Given the description of an element on the screen output the (x, y) to click on. 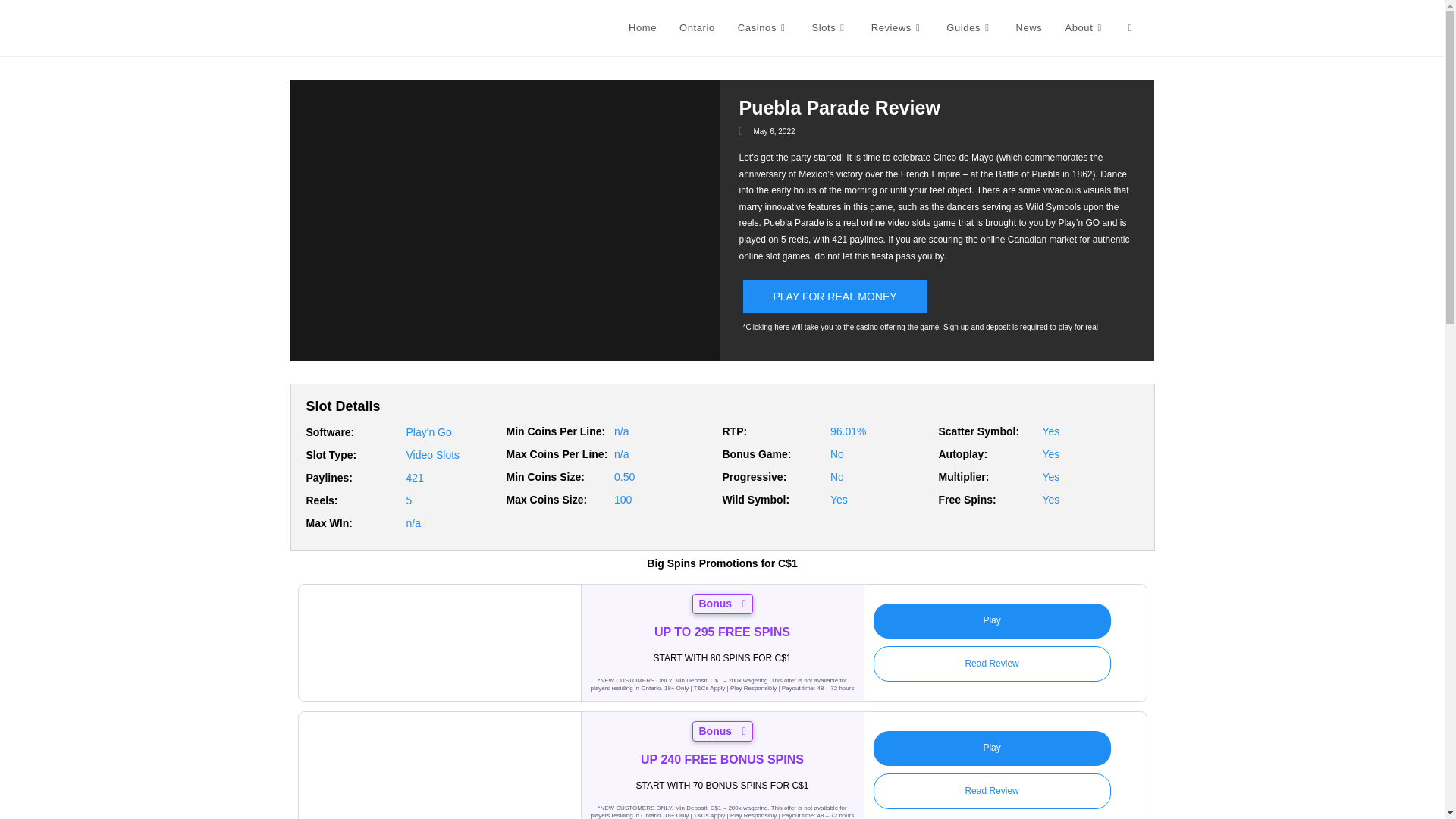
Guides (969, 28)
About (1084, 28)
Ontario (697, 28)
Casinos (763, 28)
Home (642, 28)
Slots (829, 28)
Reviews (898, 28)
